Given the description of an element on the screen output the (x, y) to click on. 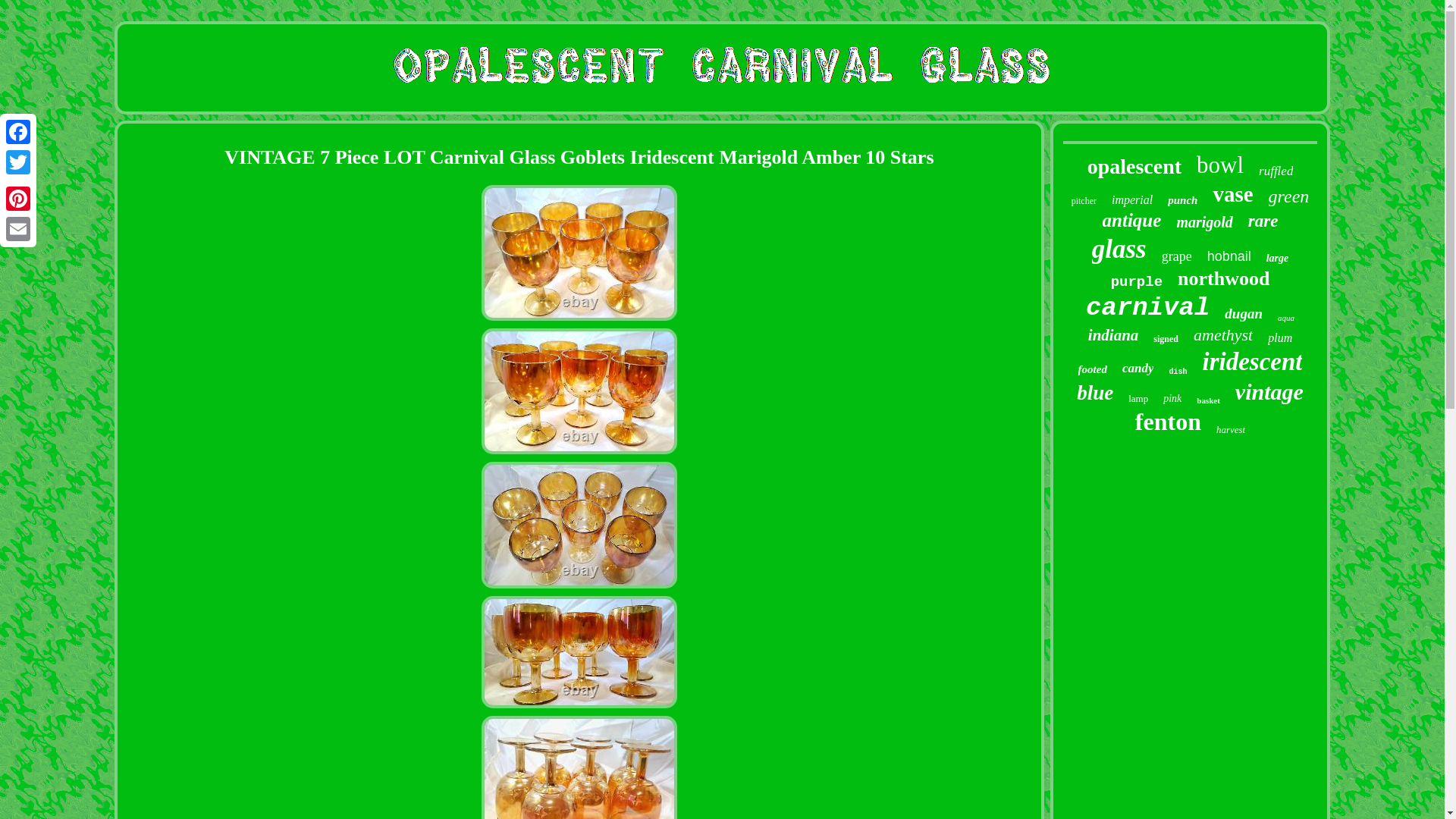
aqua (1286, 317)
northwood (1223, 278)
bowl (1219, 165)
carnival (1147, 307)
opalescent (1133, 166)
candy (1138, 368)
footed (1092, 369)
antique (1131, 219)
